Given the description of an element on the screen output the (x, y) to click on. 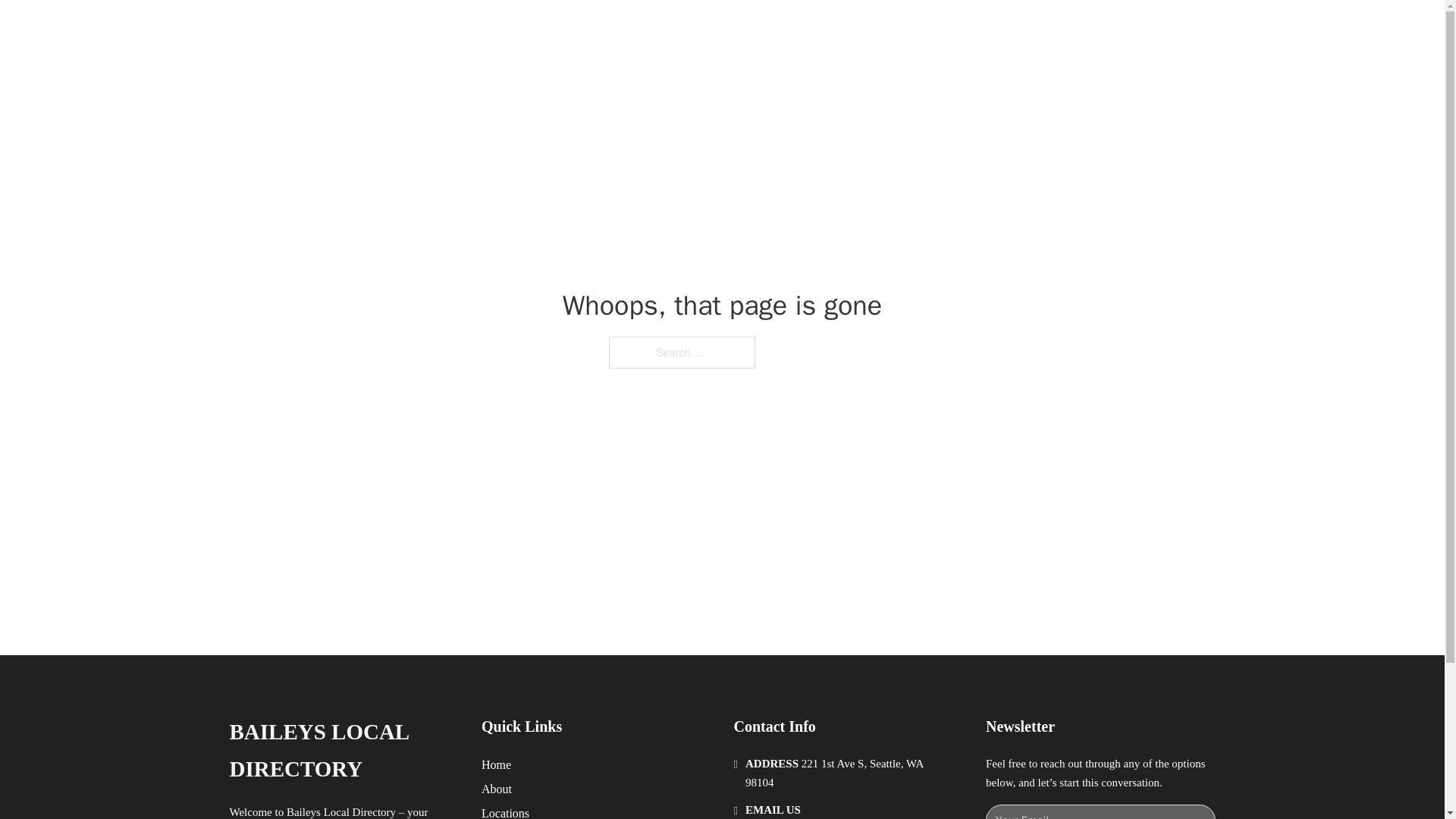
BAILEYS LOCAL DIRECTORY (444, 28)
Locations (505, 811)
BAILEYS LOCAL DIRECTORY (343, 750)
About (496, 788)
Home (496, 764)
